Given the description of an element on the screen output the (x, y) to click on. 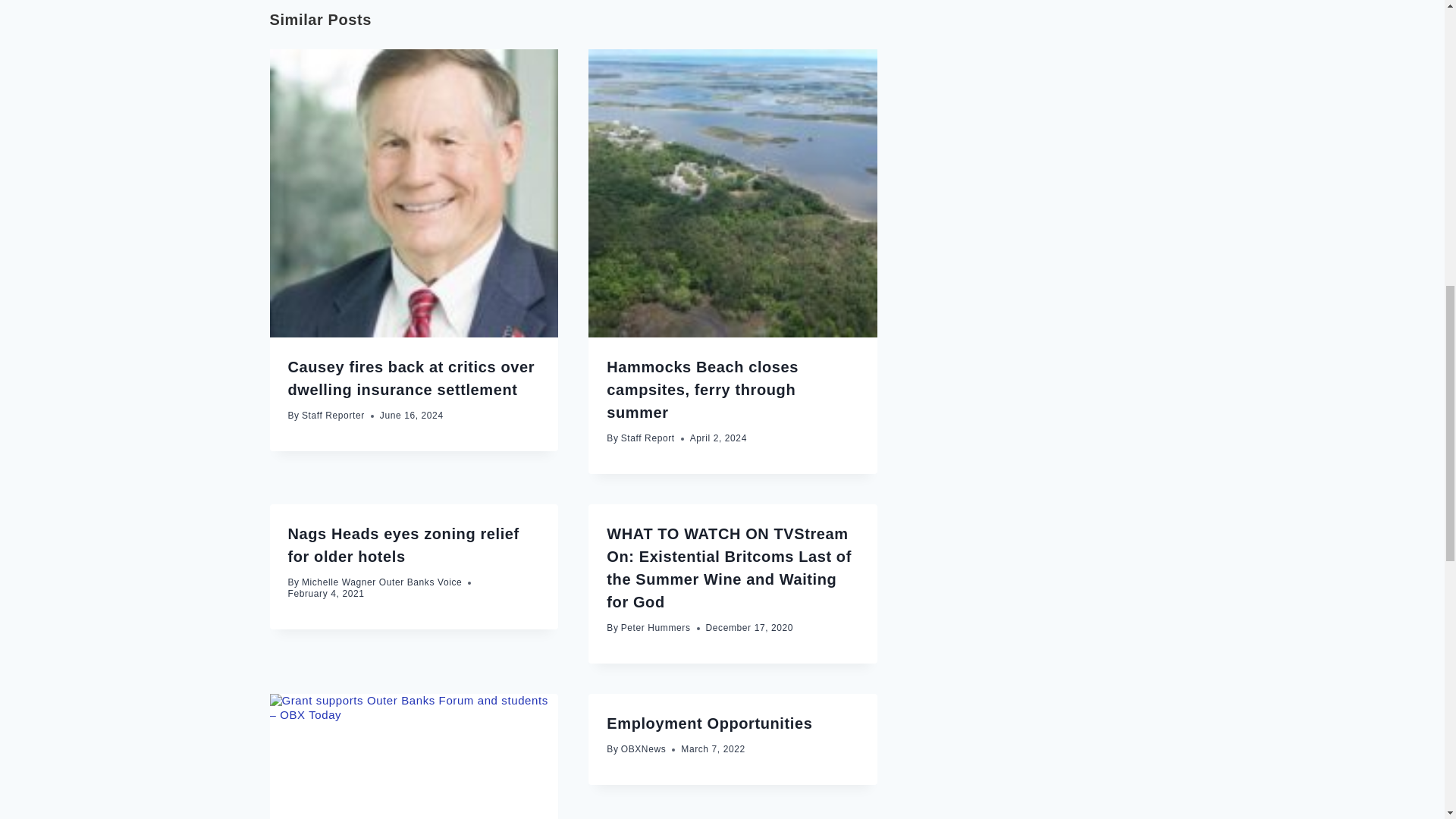
Nags Heads eyes zoning relief for older hotels (403, 545)
Hammocks Beach closes campsites, ferry through summer (702, 389)
Staff Report (648, 438)
Staff Reporter (333, 415)
